Given the description of an element on the screen output the (x, y) to click on. 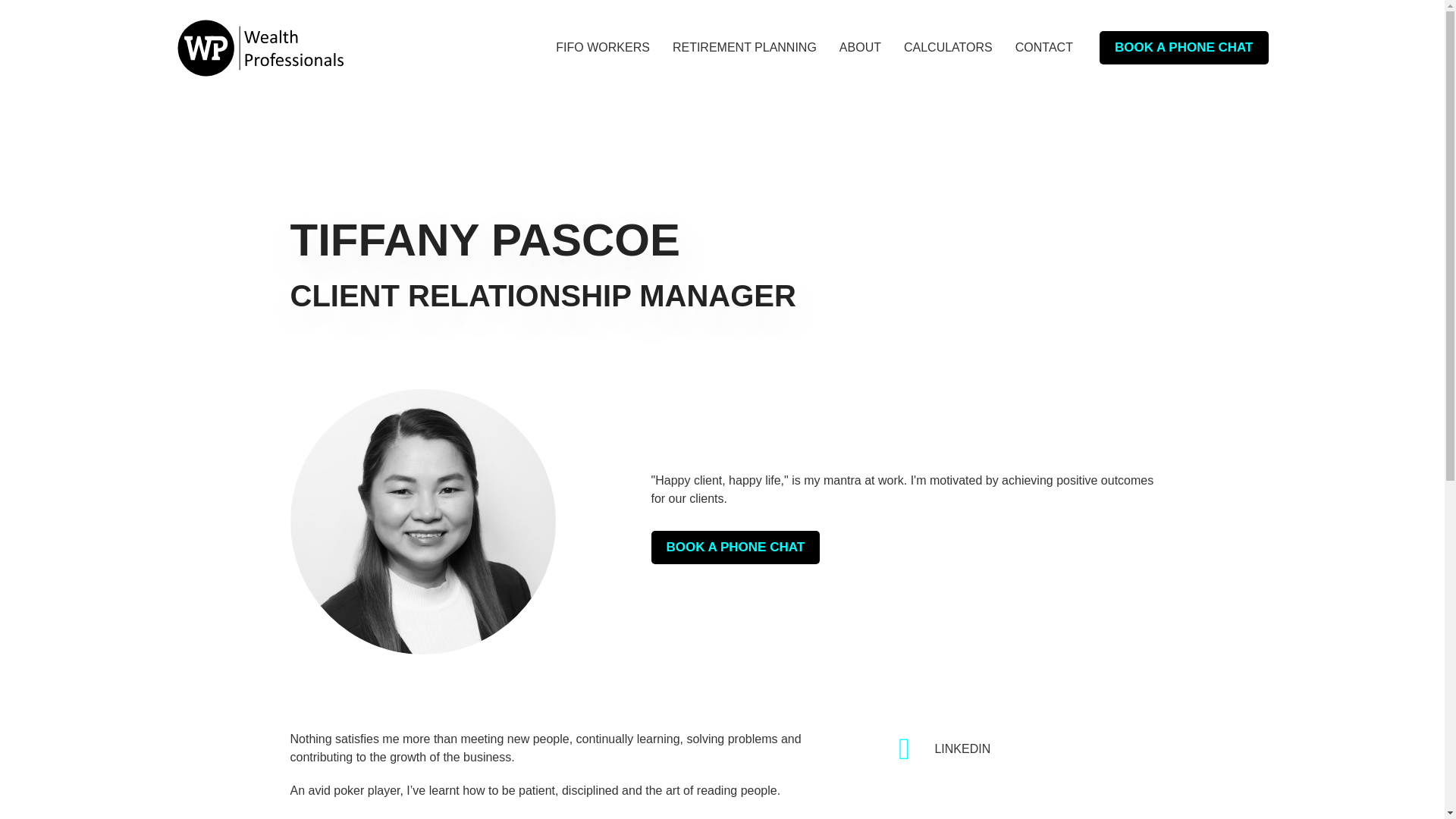
RETIREMENT PLANNING (744, 47)
BOOK A PHONE CHAT (1183, 47)
ABOUT (859, 47)
CONTACT (1043, 47)
CALCULATORS (948, 47)
FIFO WORKERS (603, 47)
WP Tiffany 250822-9 (421, 521)
BOOK A PHONE CHAT (734, 547)
wealth-professionals-logo-new (259, 47)
